Given the description of an element on the screen output the (x, y) to click on. 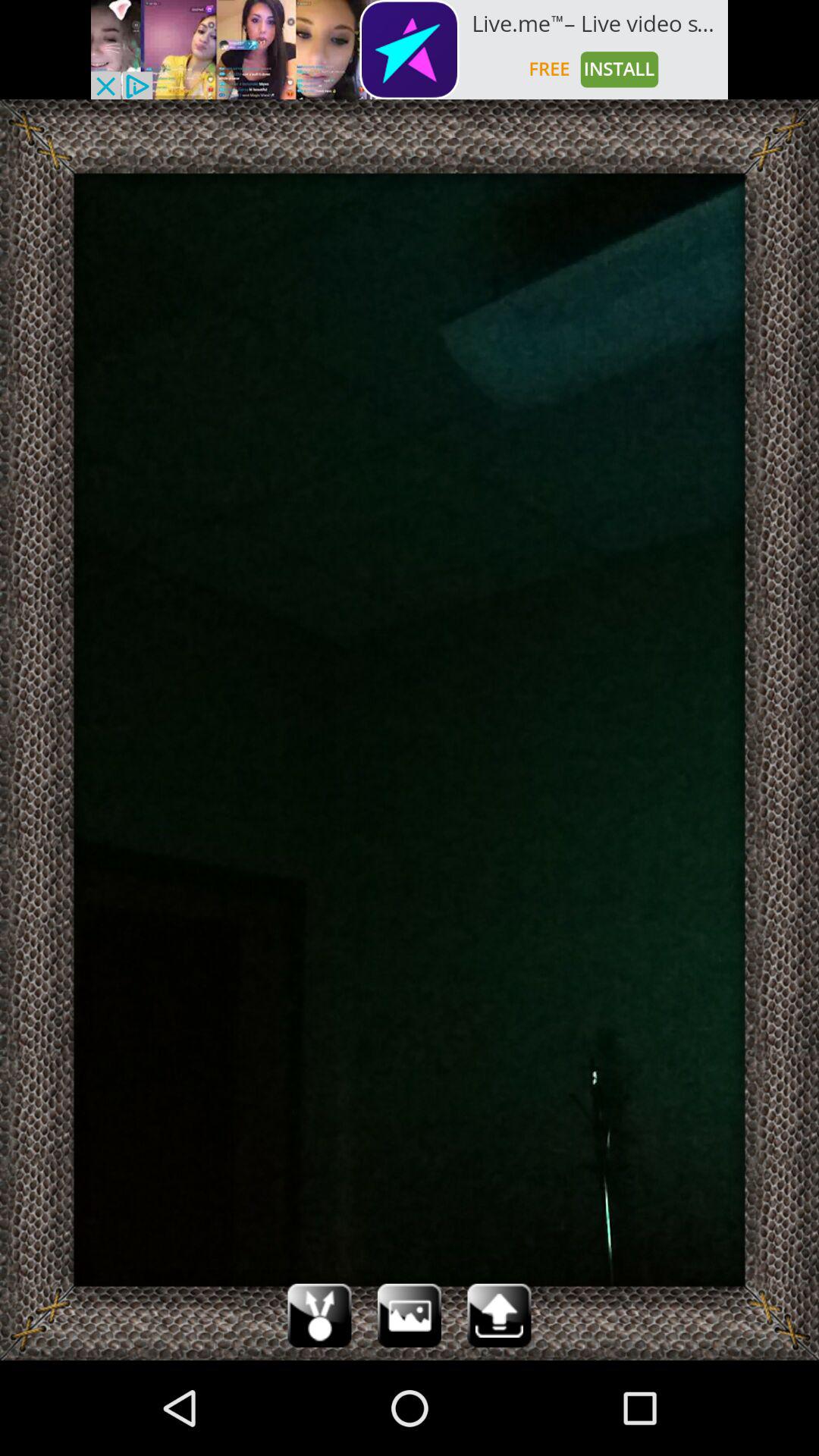
advertisement (409, 49)
